Given the description of an element on the screen output the (x, y) to click on. 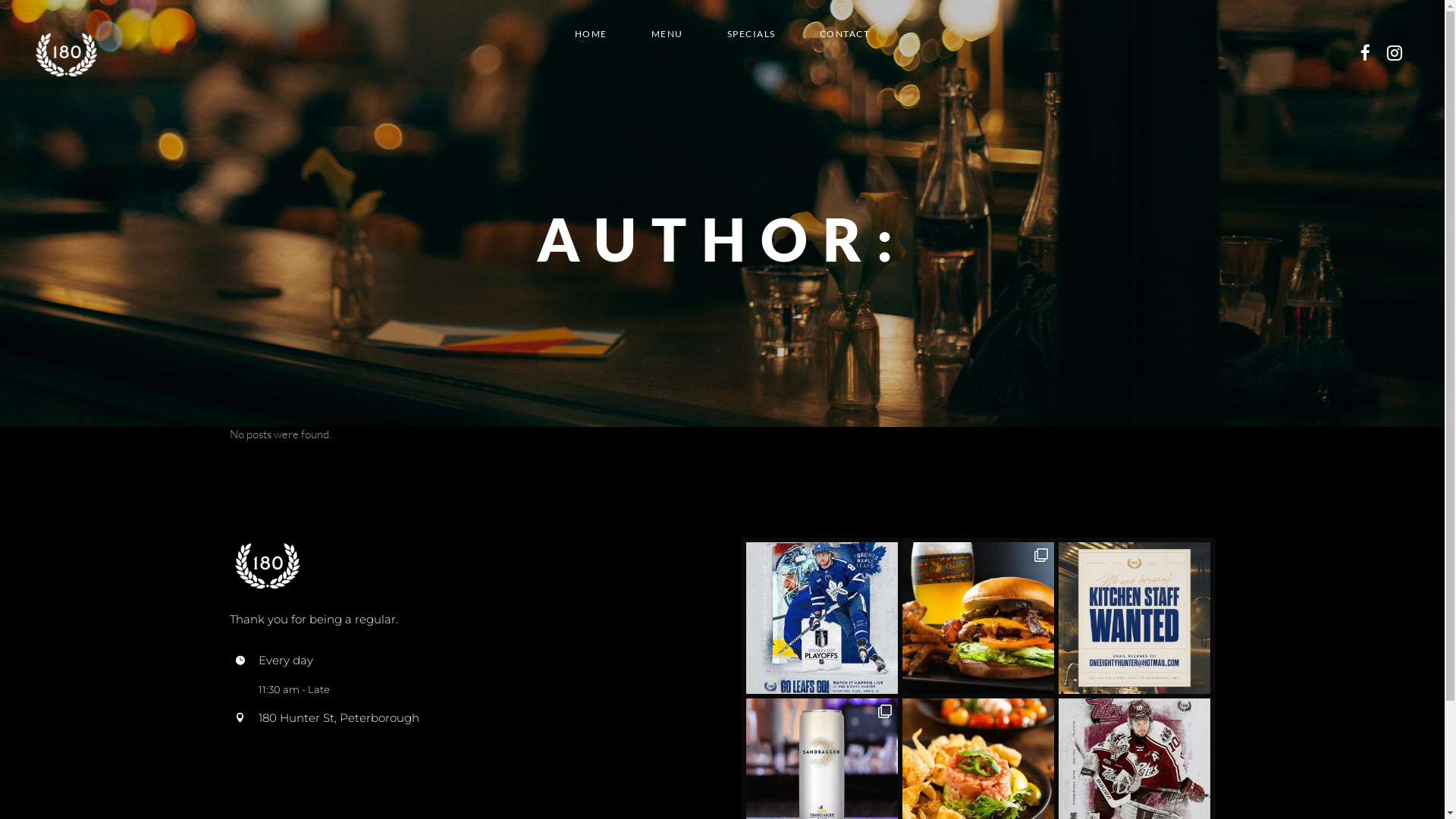
MENU Element type: text (667, 33)
SPECIALS Element type: text (751, 33)
CONTACT Element type: text (844, 33)
HOME Element type: text (590, 33)
